Given the description of an element on the screen output the (x, y) to click on. 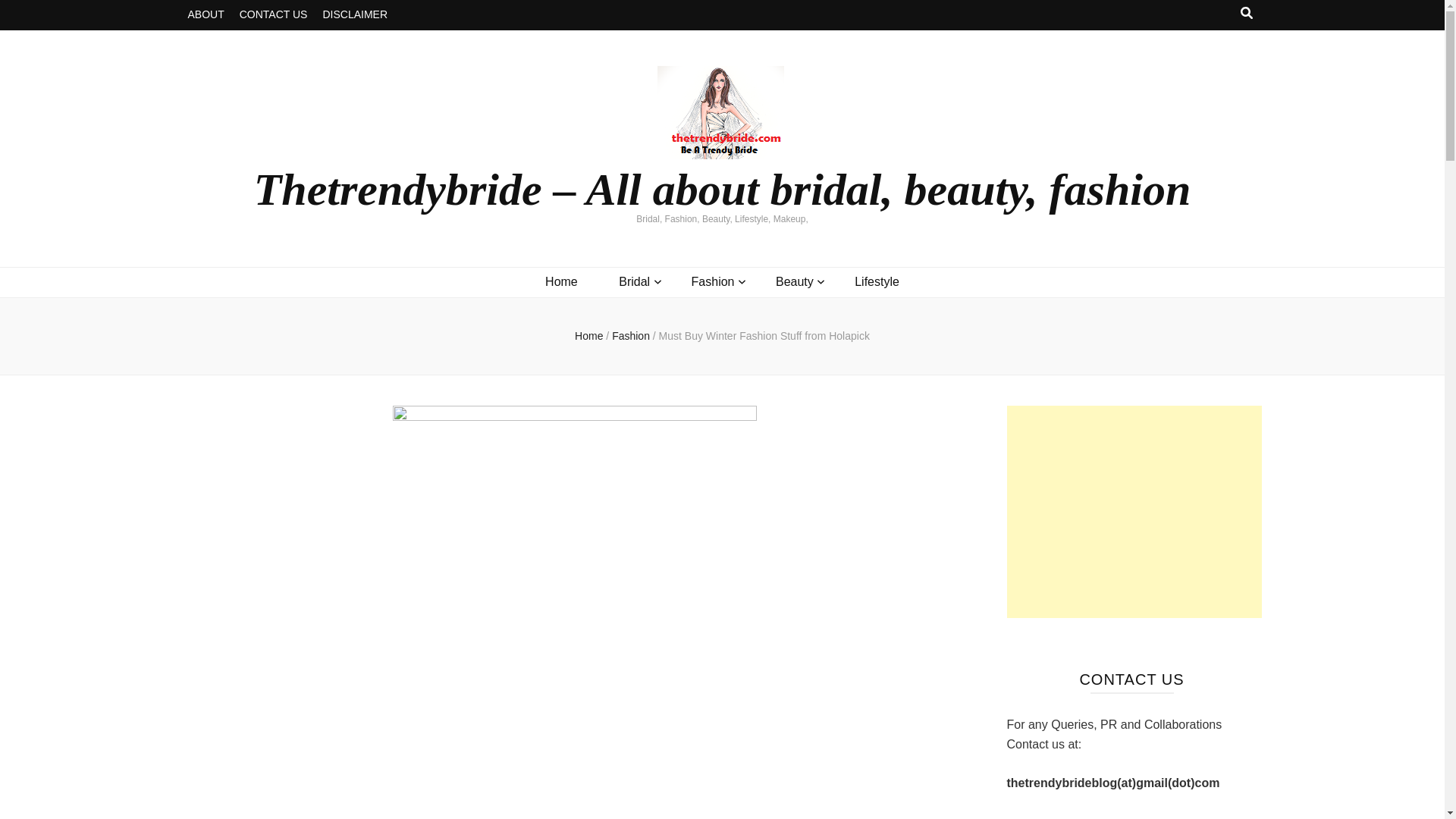
ABOUT (205, 15)
Fashion (631, 336)
Beauty (794, 281)
Home (561, 281)
DISCLAIMER (354, 15)
CONTACT US (273, 15)
Fashion (713, 281)
Advertisement (1134, 511)
Must Buy Winter Fashion Stuff from Holapick (764, 336)
Lifestyle (876, 281)
Home (588, 336)
Bridal (633, 281)
